Given the description of an element on the screen output the (x, y) to click on. 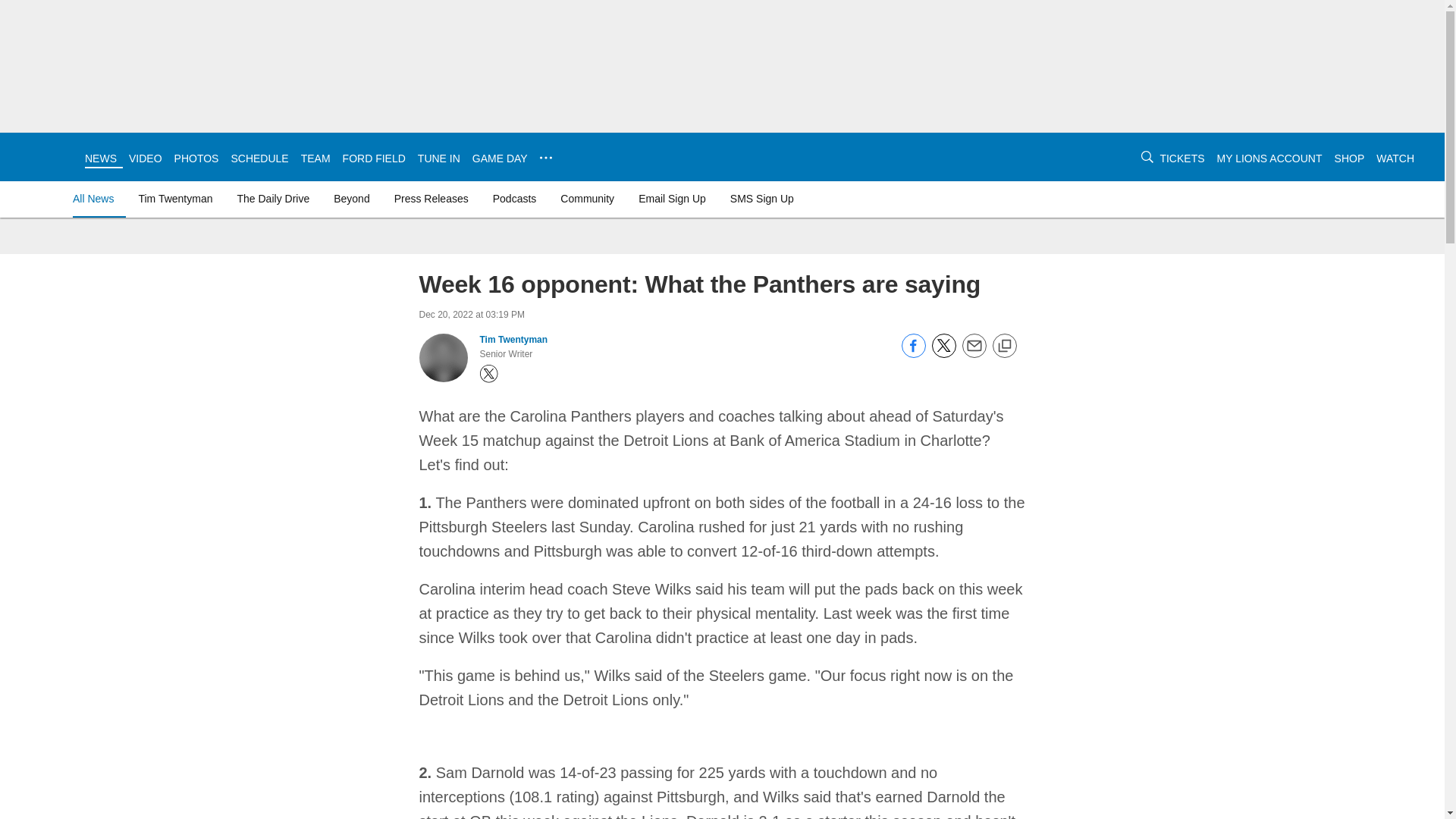
Press Releases (431, 198)
GAME DAY (499, 158)
Beyond (351, 198)
SCHEDULE (259, 158)
TUNE IN (438, 158)
... (545, 157)
Community (587, 198)
TICKETS (1181, 158)
SCHEDULE (259, 158)
VIDEO (145, 158)
